Given the description of an element on the screen output the (x, y) to click on. 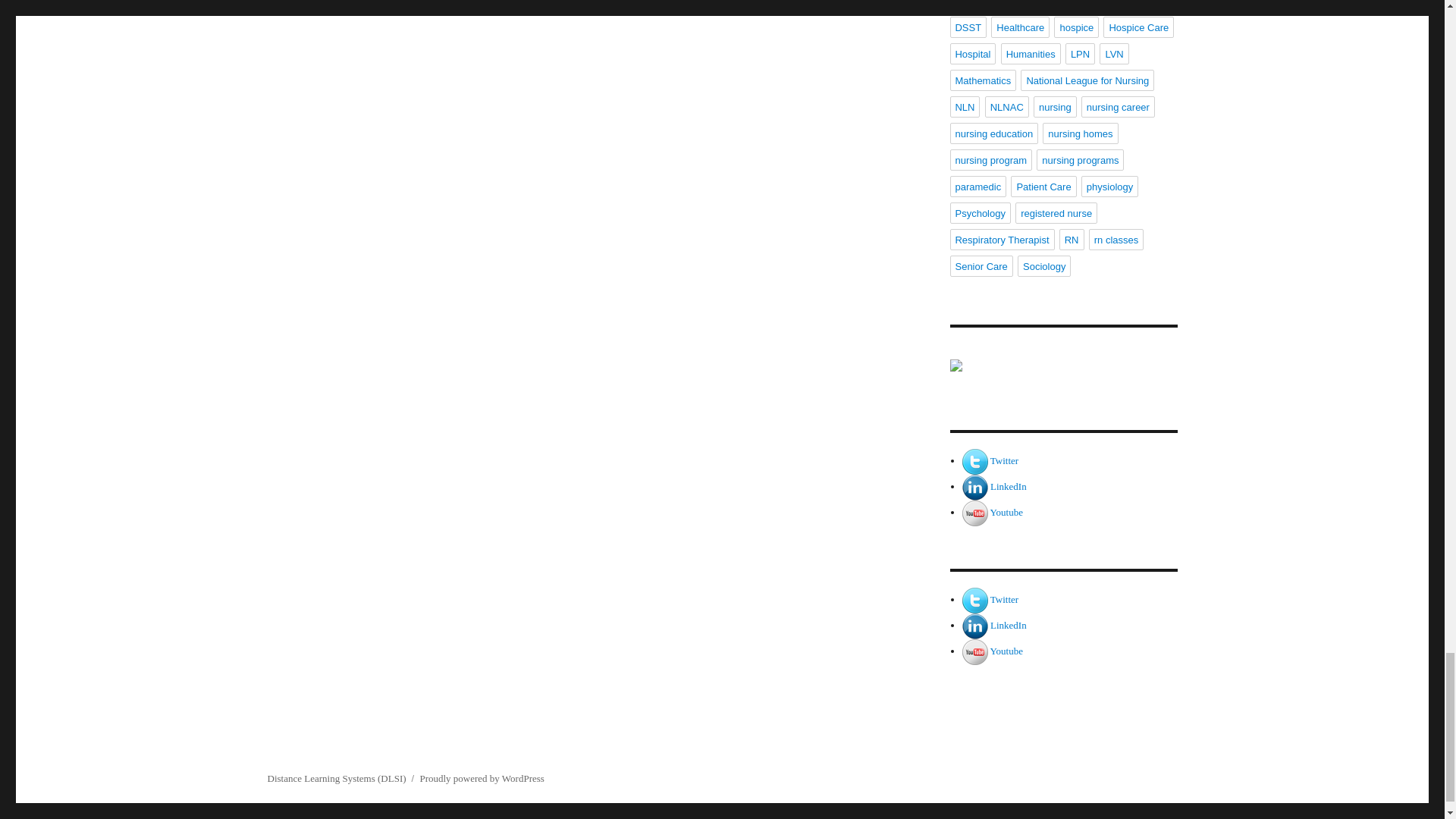
Visit myLinkedInprofile (1008, 486)
Visit myYoutubeprofile (975, 511)
Distance Learning Systems (1062, 378)
Visit myLinkedInprofile (975, 624)
Visit myYoutubeprofile (1006, 650)
Visit myTwitterprofile (975, 599)
Visit myLinkedInprofile (1008, 624)
Visit myTwitterprofile (1003, 599)
Visit myYoutubeprofile (1006, 511)
Visit myLinkedInprofile (975, 486)
Visit myYoutubeprofile (975, 650)
Visit myTwitterprofile (975, 460)
Visit myTwitterprofile (1003, 460)
